Given the description of an element on the screen output the (x, y) to click on. 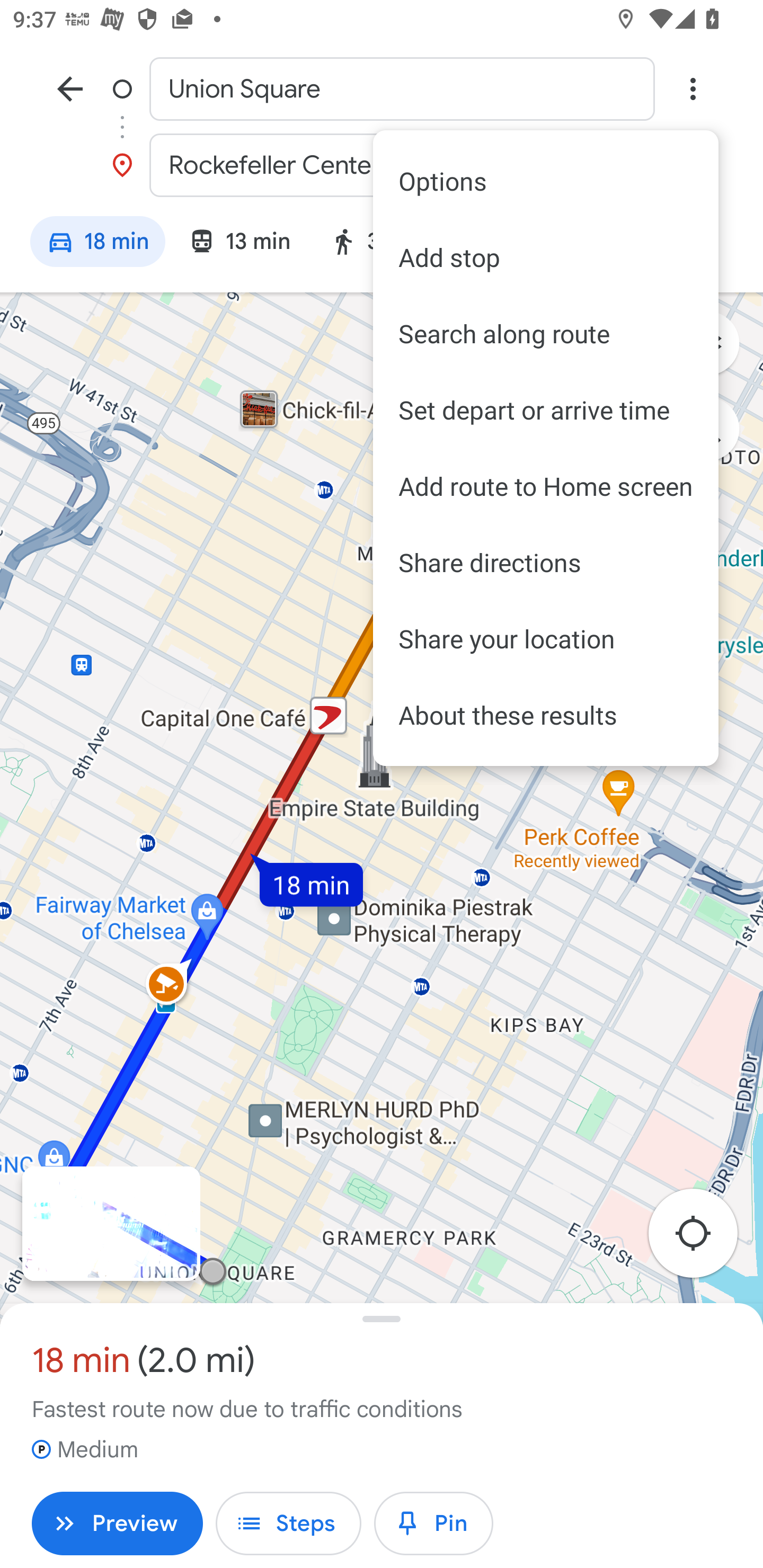
Options (545, 180)
Add stop (545, 257)
Search along route (545, 333)
Set depart or arrive time (545, 409)
Add route to Home screen (545, 485)
Share directions (545, 561)
Share your location (545, 638)
About these results (545, 714)
